Given the description of an element on the screen output the (x, y) to click on. 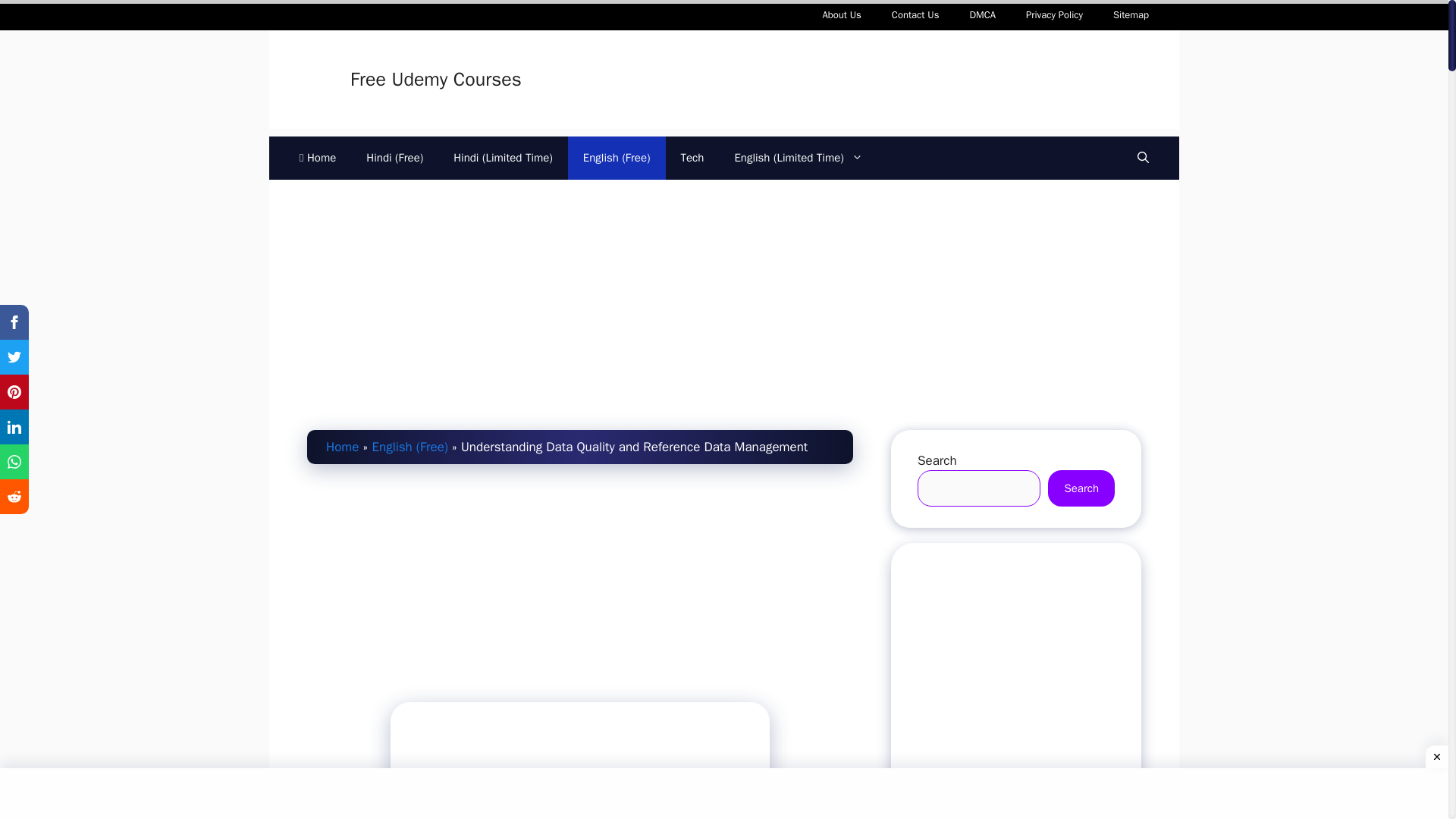
Tech (692, 157)
Privacy Policy (1053, 15)
Contact Us (915, 15)
Advertisement (724, 790)
DMCA (981, 15)
Advertisement (580, 590)
Sitemap (1130, 15)
Free Udemy Courses (435, 78)
About Us (841, 15)
